Given the description of an element on the screen output the (x, y) to click on. 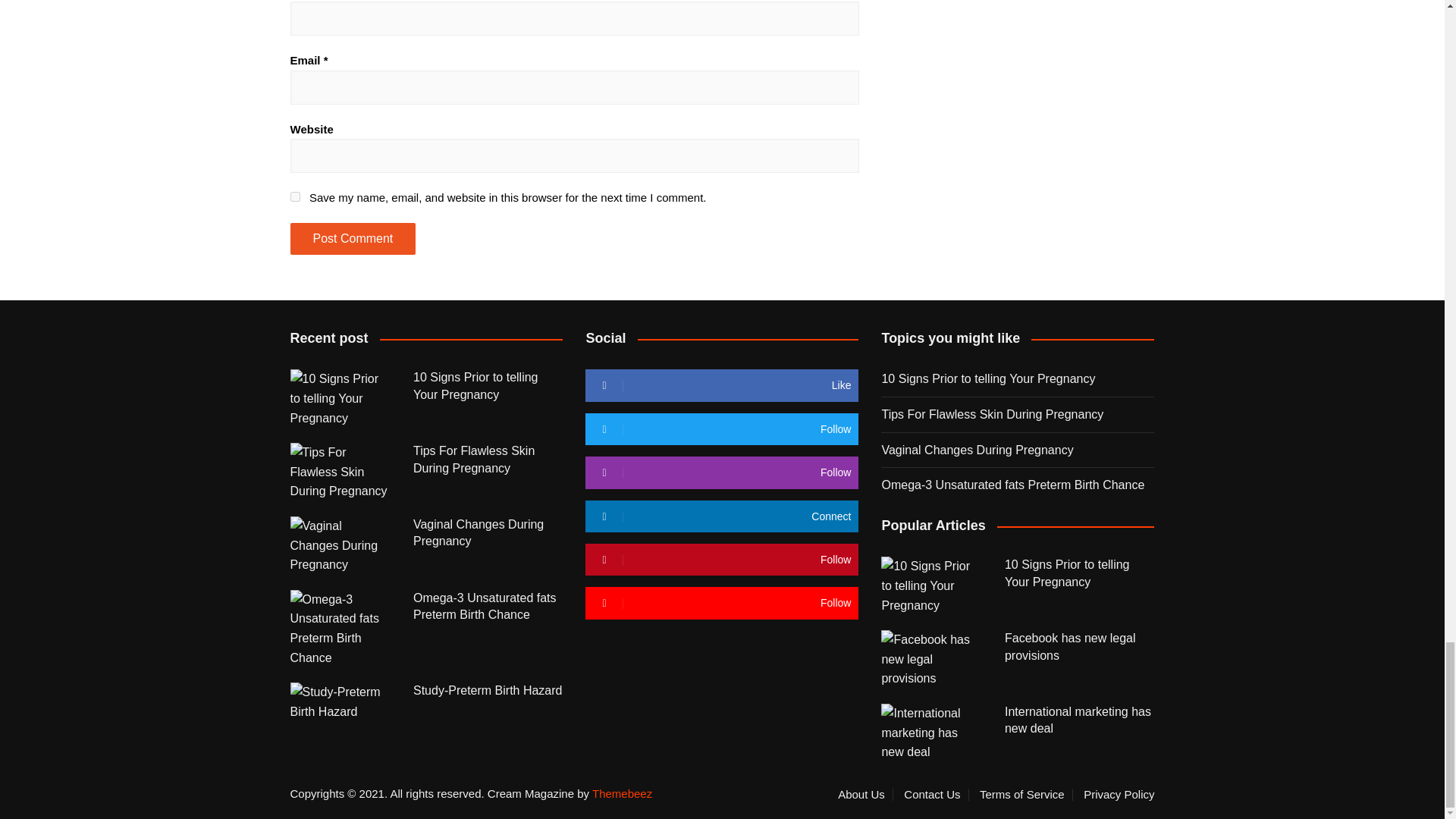
Vaginal Changes During Pregnancy (339, 545)
Study-Preterm Birth Hazard (339, 701)
Post Comment (351, 238)
Omega-3 Unsaturated fats Preterm Birth Chance (339, 628)
Tips For Flawless Skin During Pregnancy (339, 472)
yes (294, 196)
10 Signs Prior to telling Your Pregnancy (339, 398)
